Given the description of an element on the screen output the (x, y) to click on. 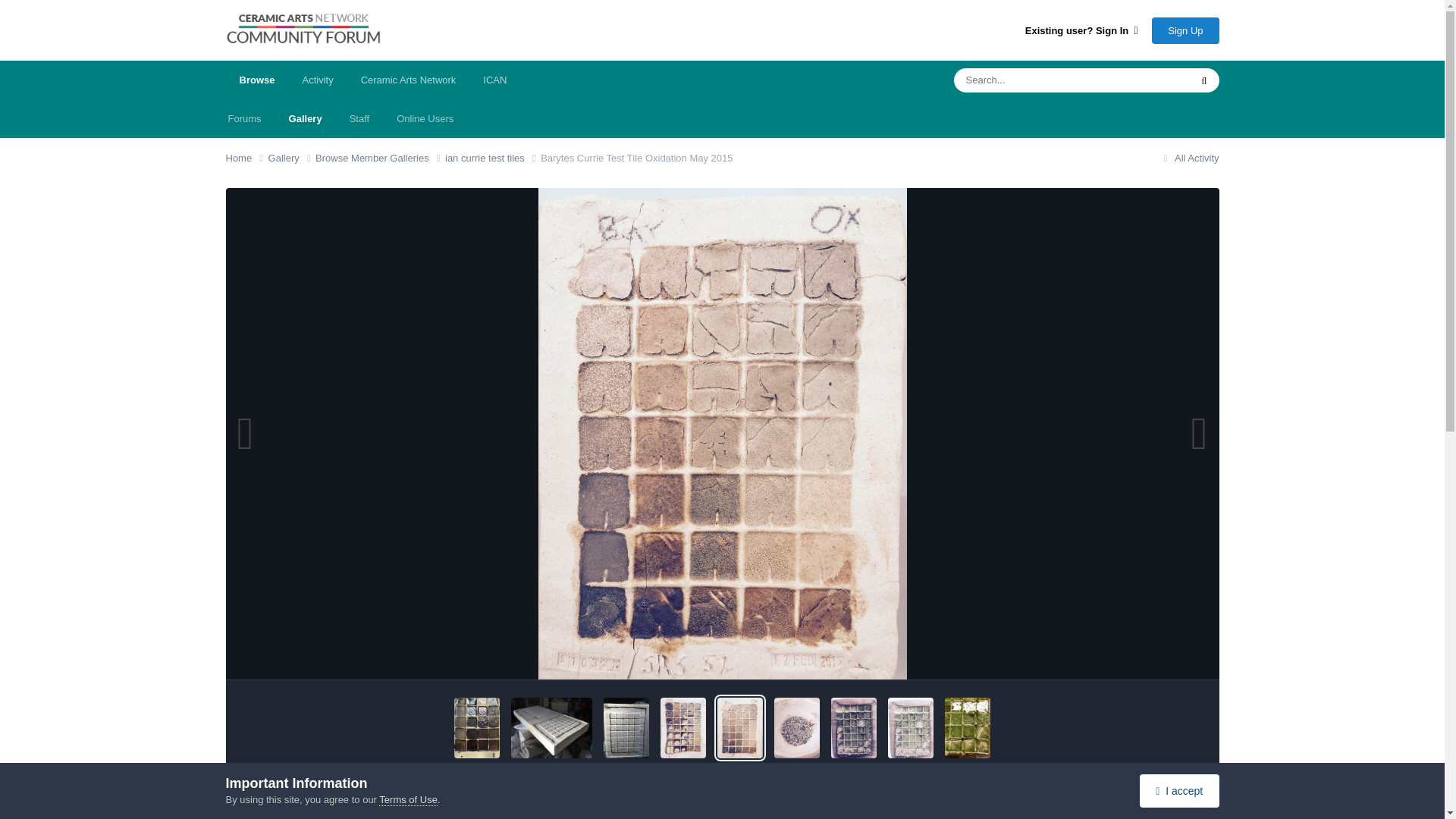
Sign Up (1184, 29)
Staff (360, 118)
Ceramic Arts Network (408, 79)
Browse Member Galleries (380, 158)
Existing user? Sign In   (1081, 30)
Home (246, 158)
Activity (317, 79)
View the image Currie Tile Mold Whole Bat (551, 727)
Gallery (305, 118)
ian currie test tiles (492, 158)
